Given the description of an element on the screen output the (x, y) to click on. 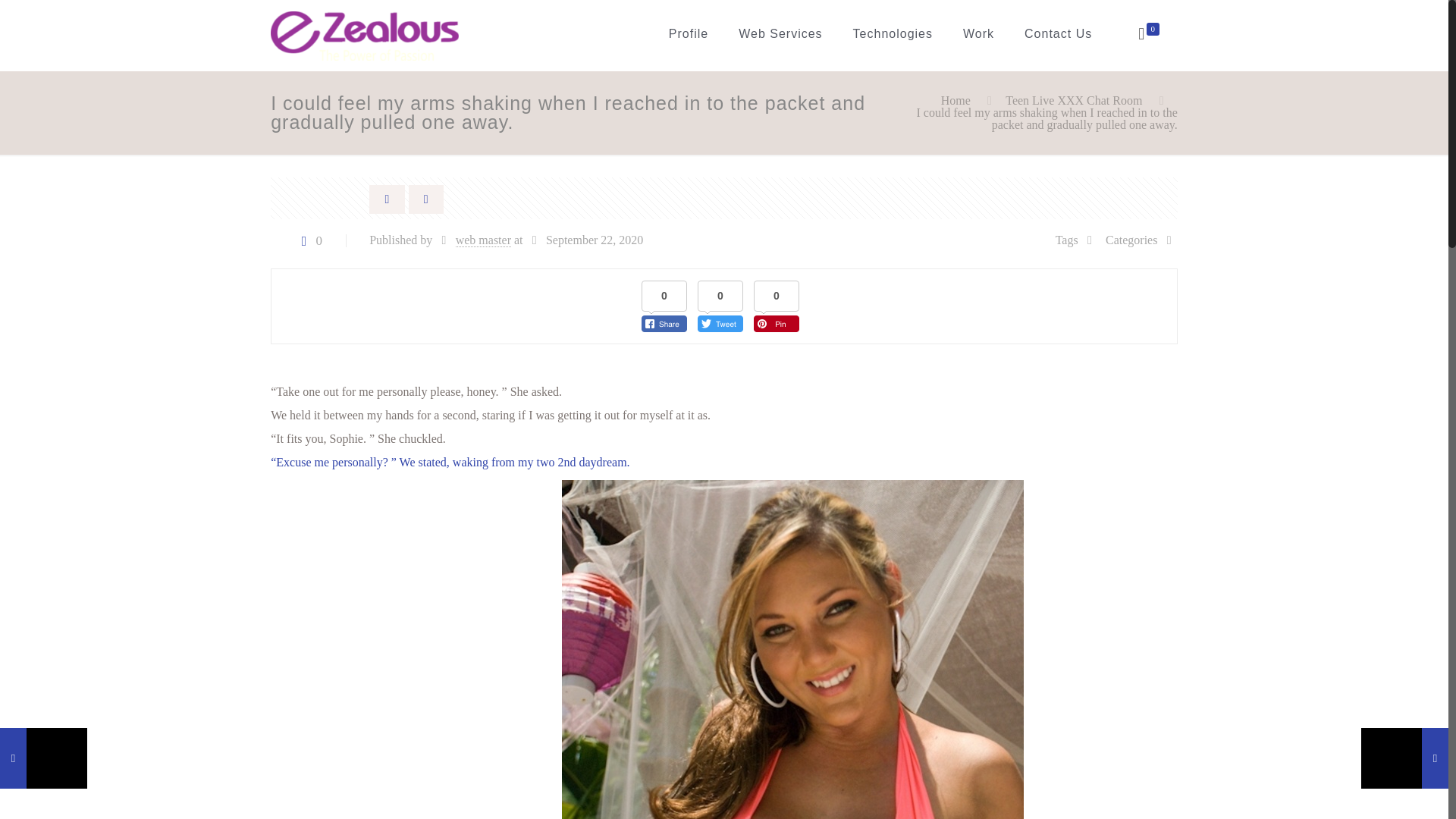
web master (483, 240)
Profile (688, 33)
Work (978, 33)
0 (307, 240)
Home (955, 100)
Technologies (892, 33)
Contact Us (1057, 33)
Teen Live XXX Chat Room (1073, 100)
0 (1147, 34)
Web Services (780, 33)
